Given the description of an element on the screen output the (x, y) to click on. 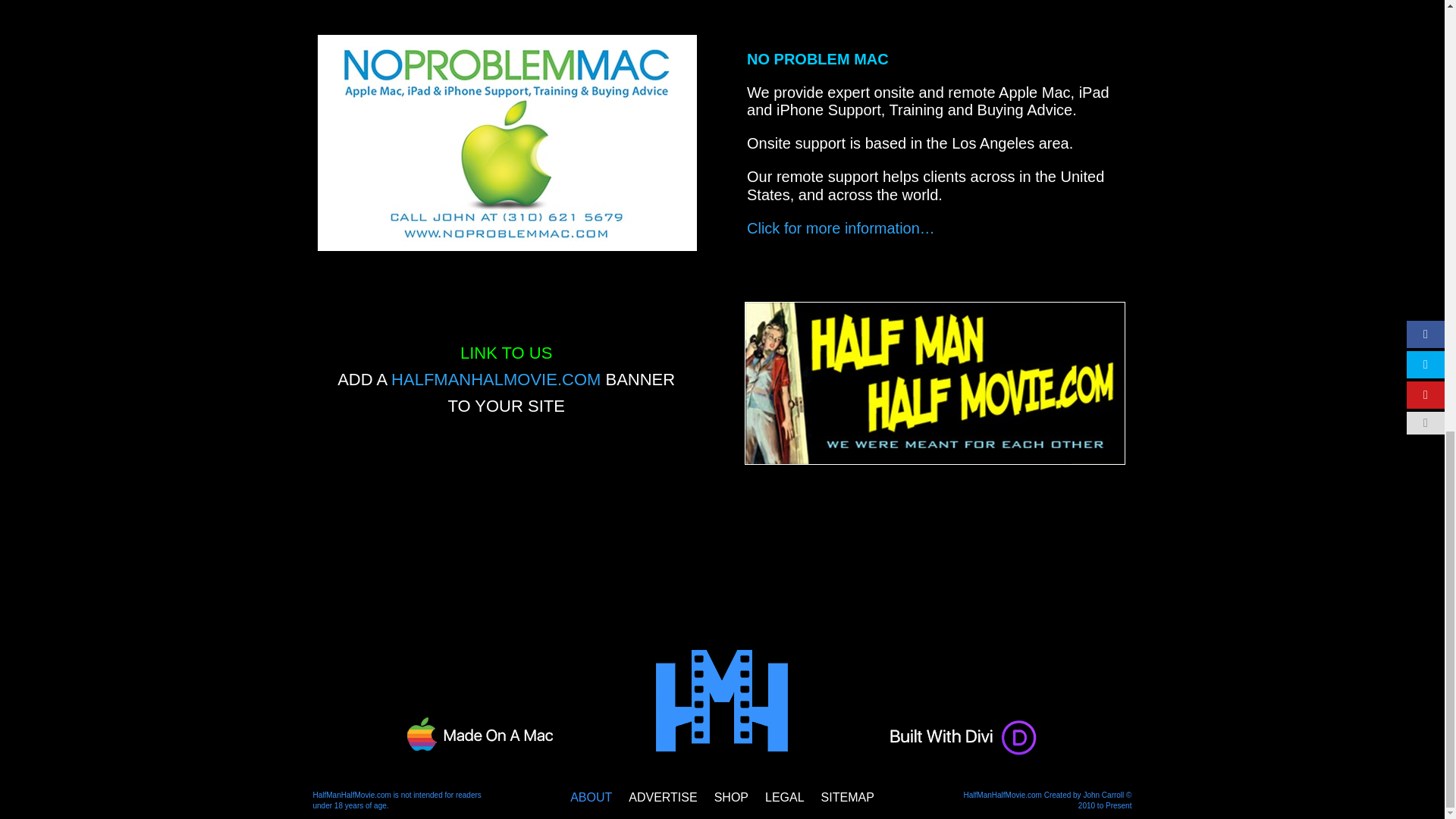
MOAM-200 (480, 734)
Logo-Blue-200X200 (721, 702)
HALFMANHALMOVIE.COM (495, 379)
Divi-200 (964, 736)
No-Problem-Mac-500 (506, 142)
Caller-500 (934, 383)
Link To Us (495, 379)
SITEMAP (848, 800)
LEGAL (785, 800)
ABOUT (590, 800)
